Given the description of an element on the screen output the (x, y) to click on. 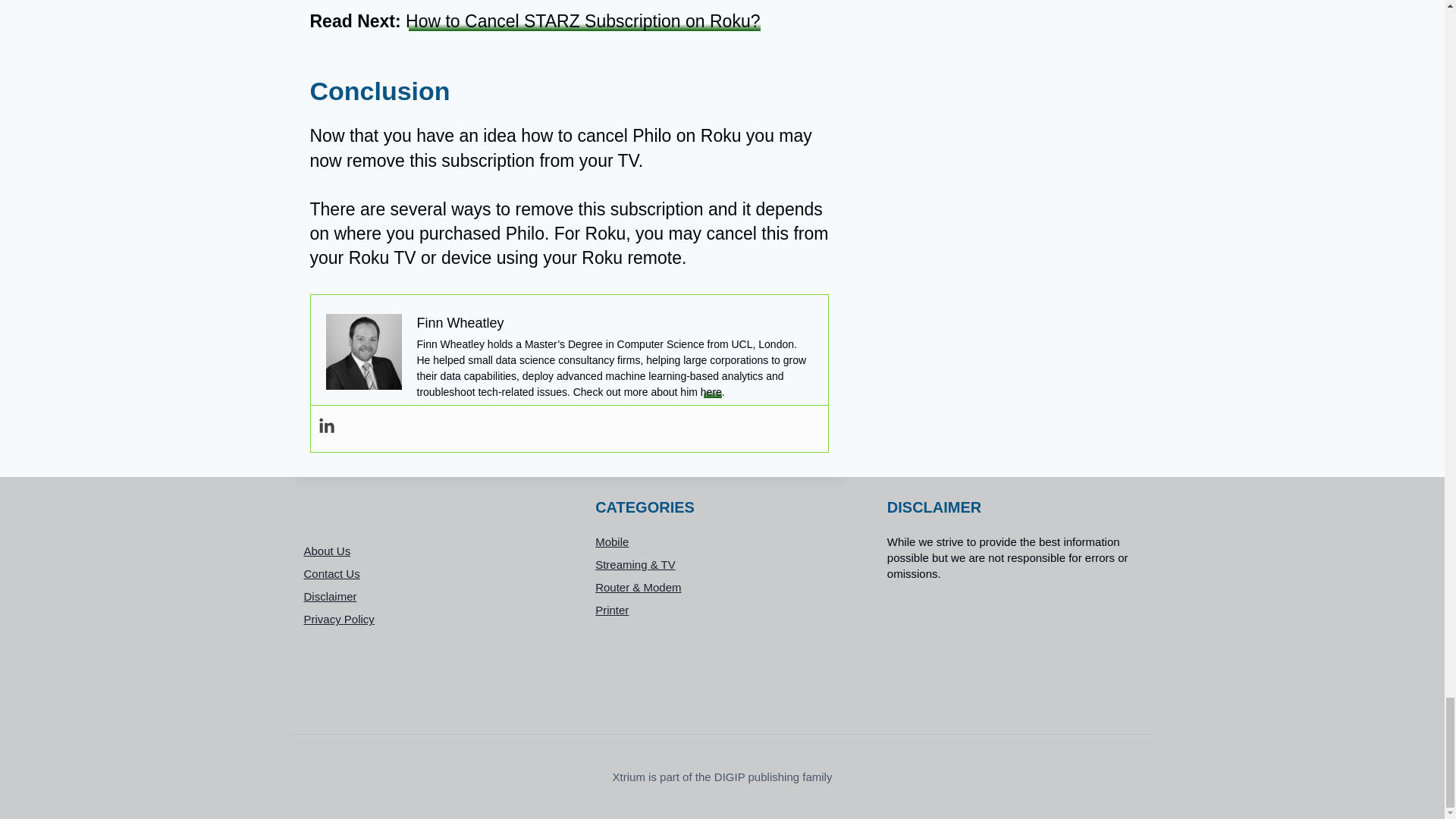
How to Cancel Philo on Roku? Quick Guide 2 (363, 351)
DMCA.com Protection Status (1013, 649)
How to Cancel STARZ Subscription on Roku? (583, 21)
